Given the description of an element on the screen output the (x, y) to click on. 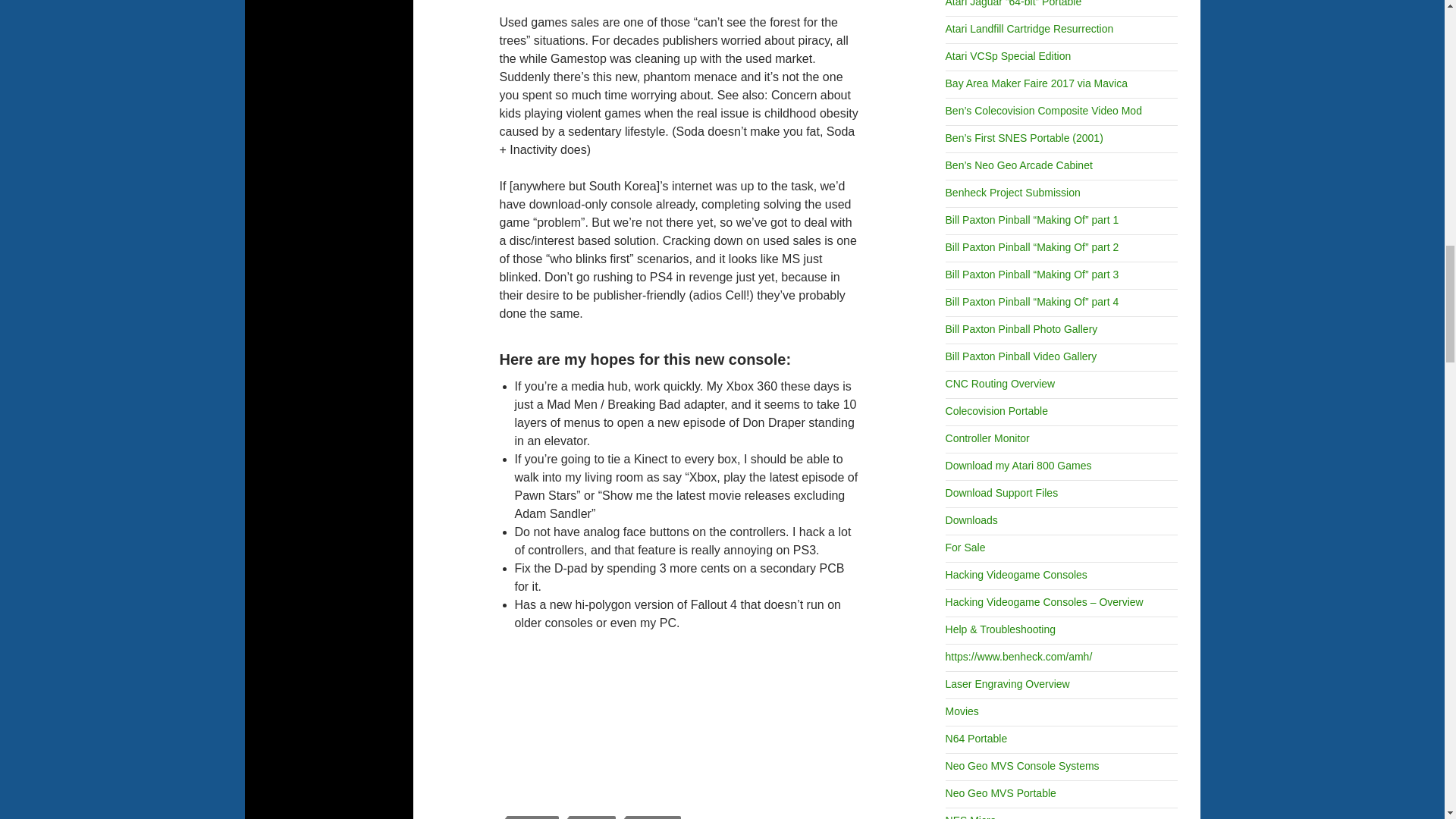
XBOX ONE (653, 817)
KITTENS (592, 817)
BENHECK (531, 817)
